Given the description of an element on the screen output the (x, y) to click on. 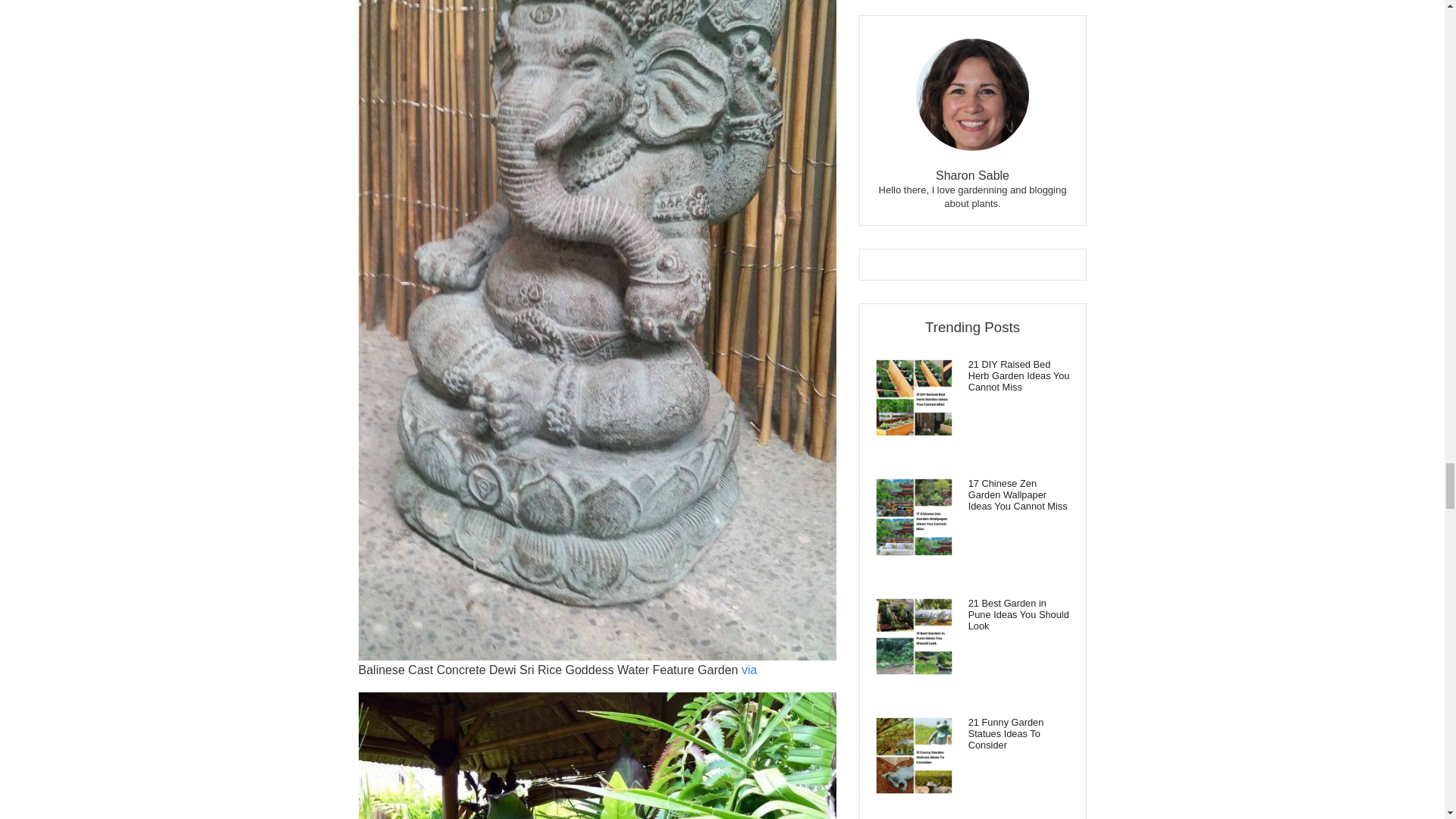
via (749, 669)
